Given the description of an element on the screen output the (x, y) to click on. 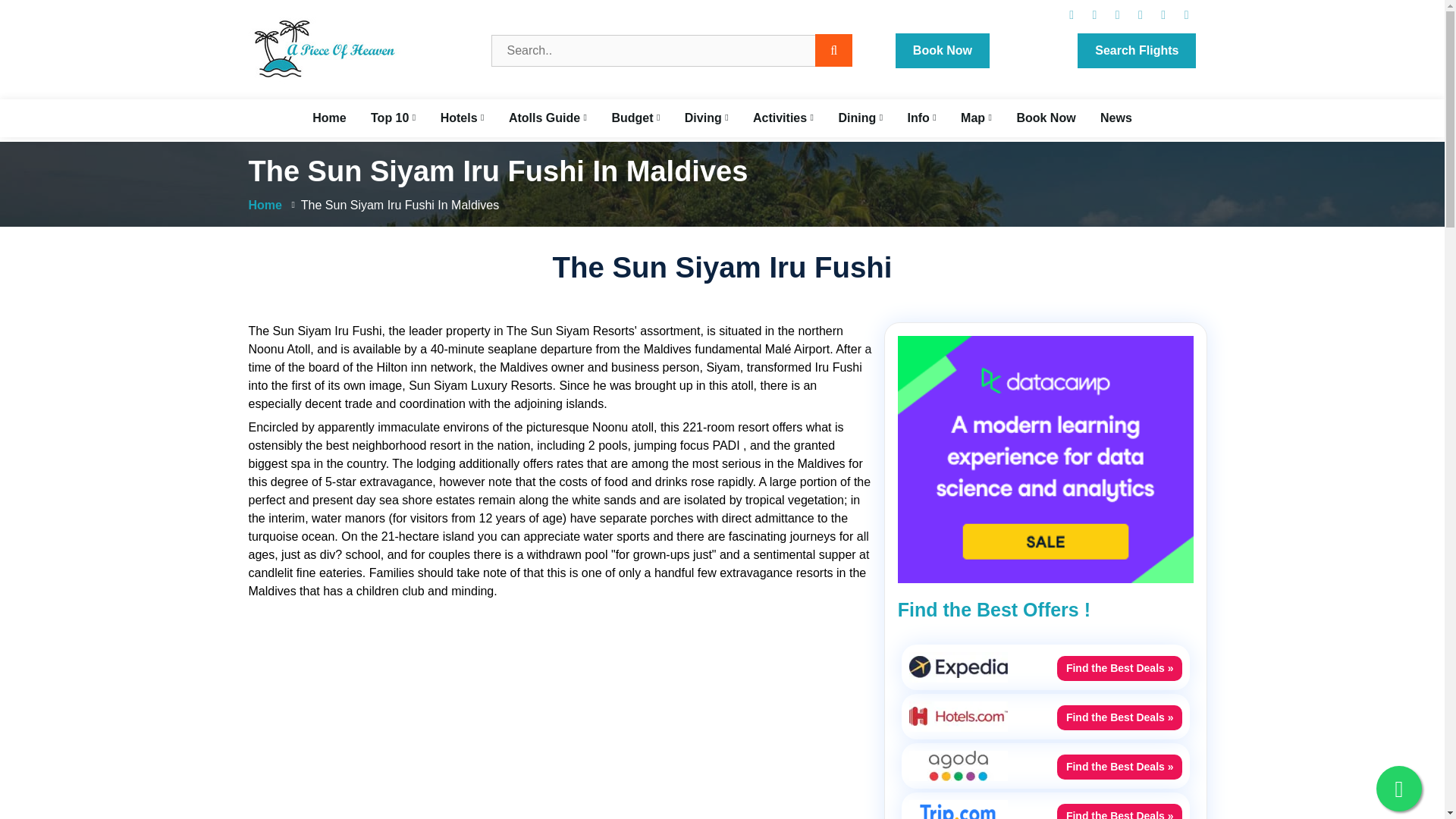
expedia.com - Resorts (957, 813)
expedia.com - Resorts (957, 666)
Top 10 (392, 118)
Book Now (942, 50)
expedia.com - Resorts (957, 715)
Search Flights (1136, 50)
Home (328, 118)
expedia.com - Resorts (957, 764)
